Given the description of an element on the screen output the (x, y) to click on. 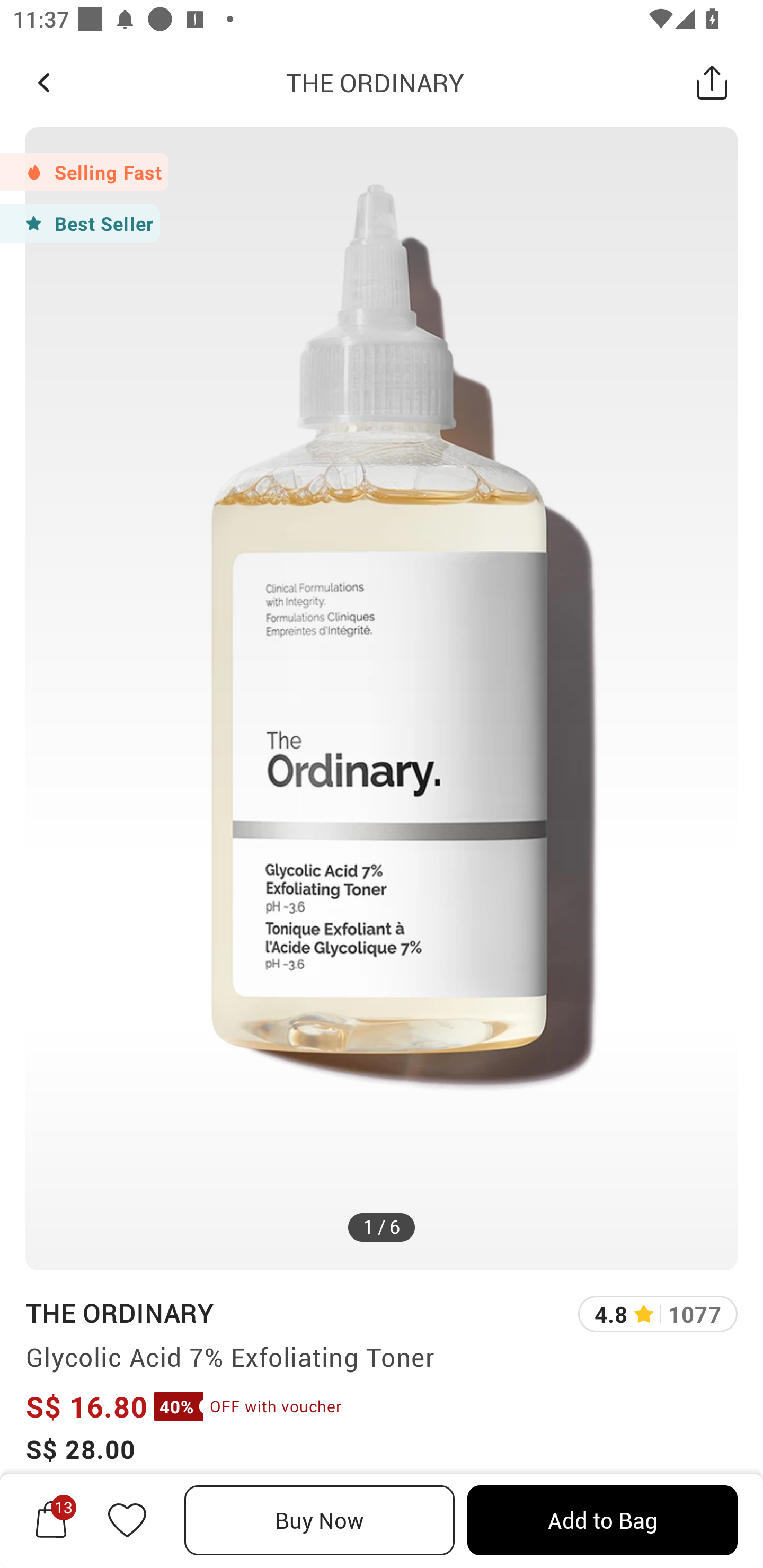
THE ORDINARY (375, 82)
Share this Product (711, 82)
THE ORDINARY (119, 1312)
4.8 1077 (657, 1313)
Buy Now (319, 1519)
Add to Bag (601, 1519)
13 (50, 1520)
